Given the description of an element on the screen output the (x, y) to click on. 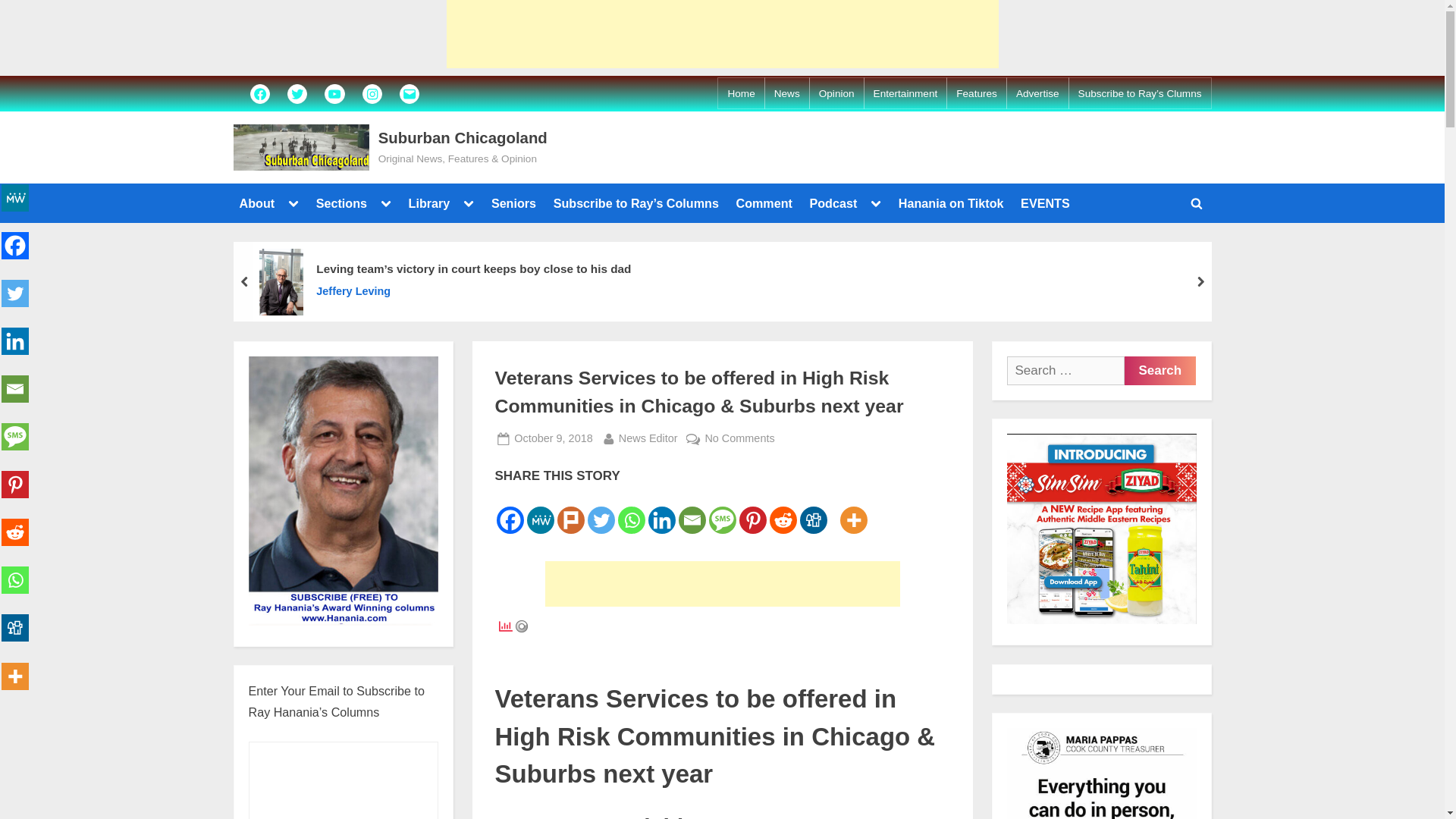
Entertainment (905, 93)
Twitter (296, 93)
Youtube (333, 93)
Opinion (836, 93)
Advertise (1037, 93)
News (786, 93)
Instagram (371, 93)
About (256, 203)
Toggle sub-menu (385, 202)
Facebook (259, 93)
